Given the description of an element on the screen output the (x, y) to click on. 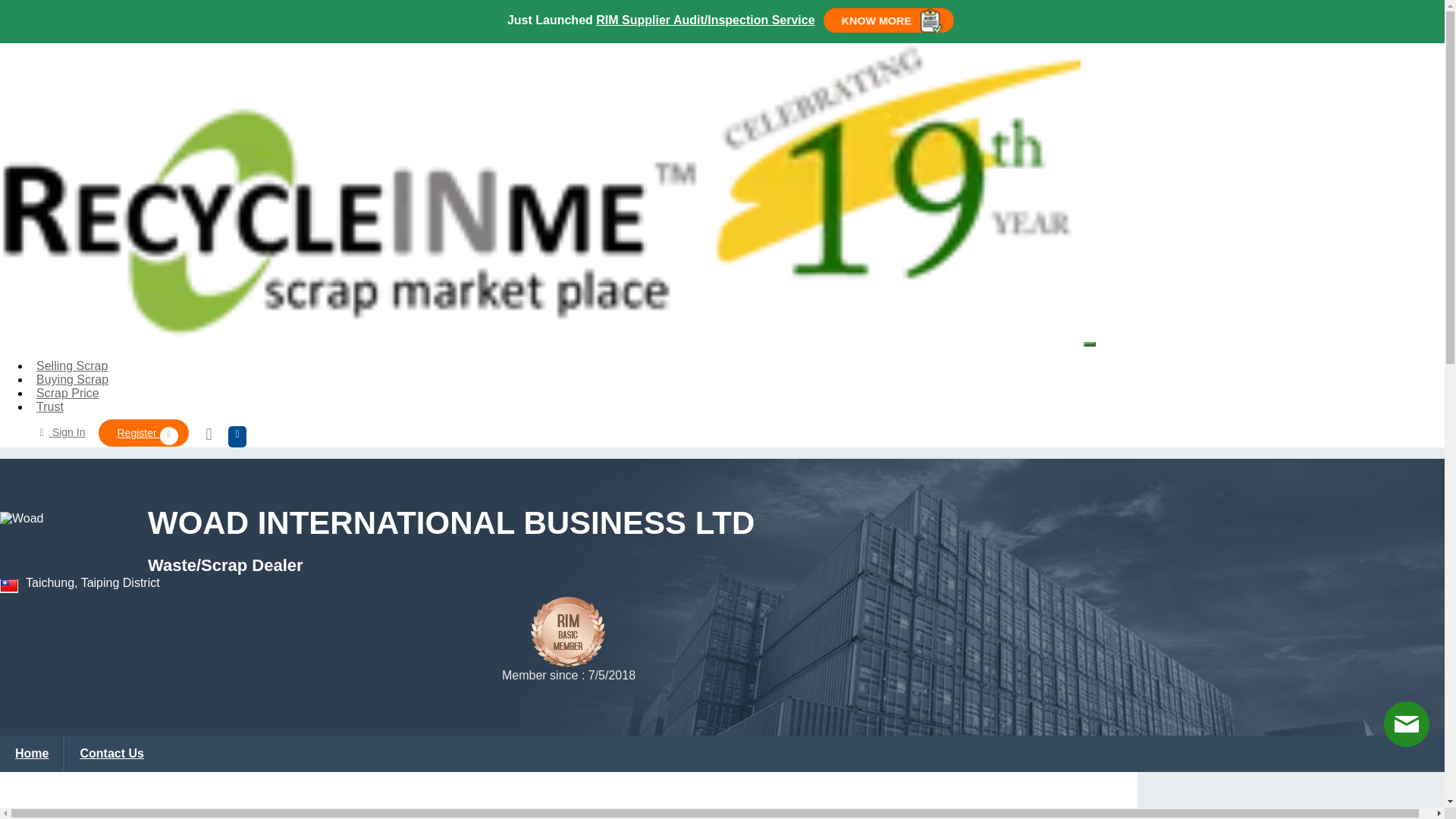
Inquiry Basket (212, 435)
Home (32, 753)
Register (143, 432)
Contact Us (111, 753)
KNOW MORE (888, 20)
Buying Scrap (72, 379)
Sign In (58, 431)
Scrap Price (67, 393)
Live chat offline (1406, 723)
Woad (66, 539)
